Given the description of an element on the screen output the (x, y) to click on. 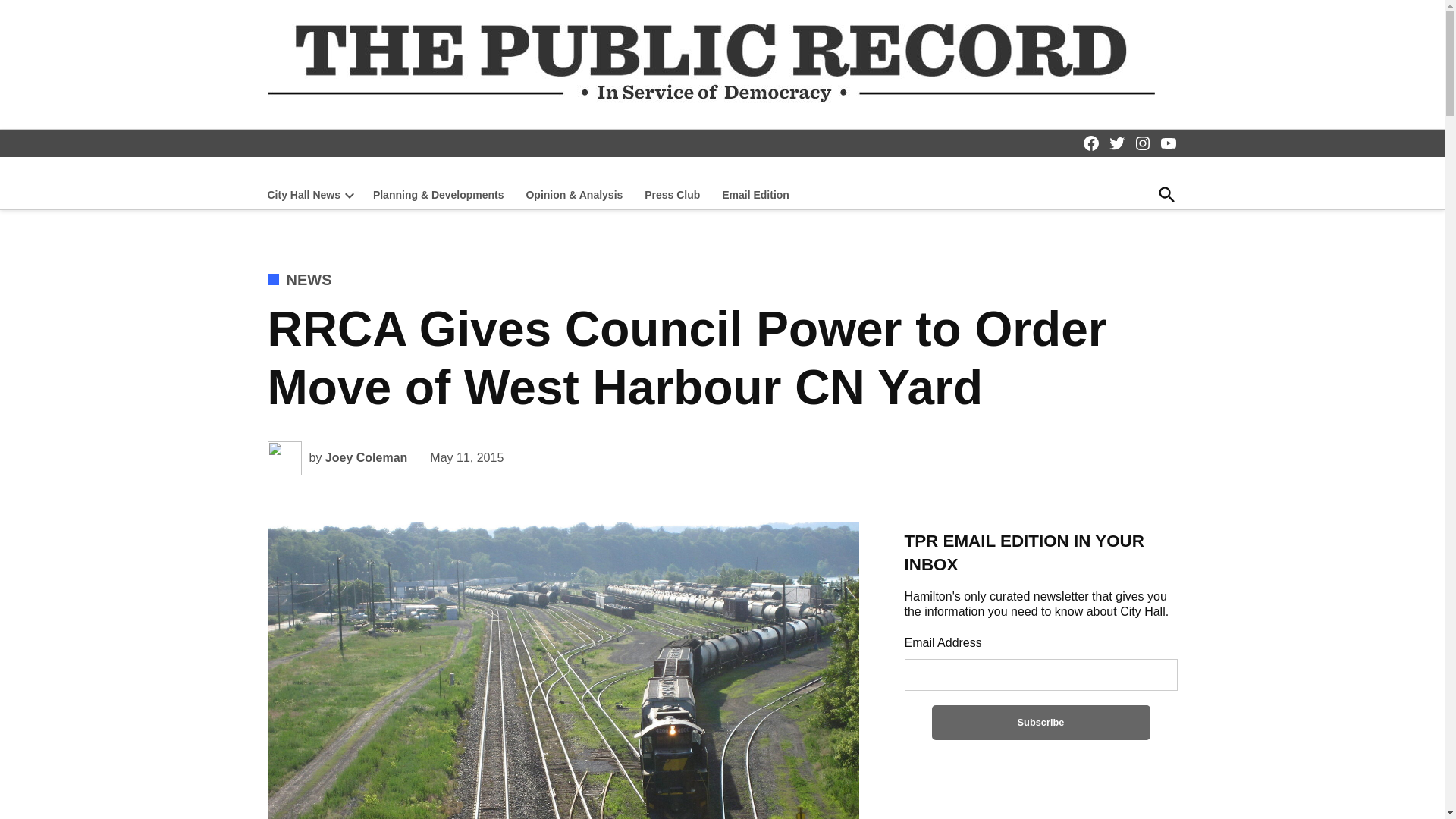
Open dropdown menu (349, 194)
Instagram (1141, 143)
Subscribe (1040, 722)
City Hall News (302, 194)
YouTube (1167, 143)
Twitter (1115, 143)
Facebook Page (1090, 143)
